Given the description of an element on the screen output the (x, y) to click on. 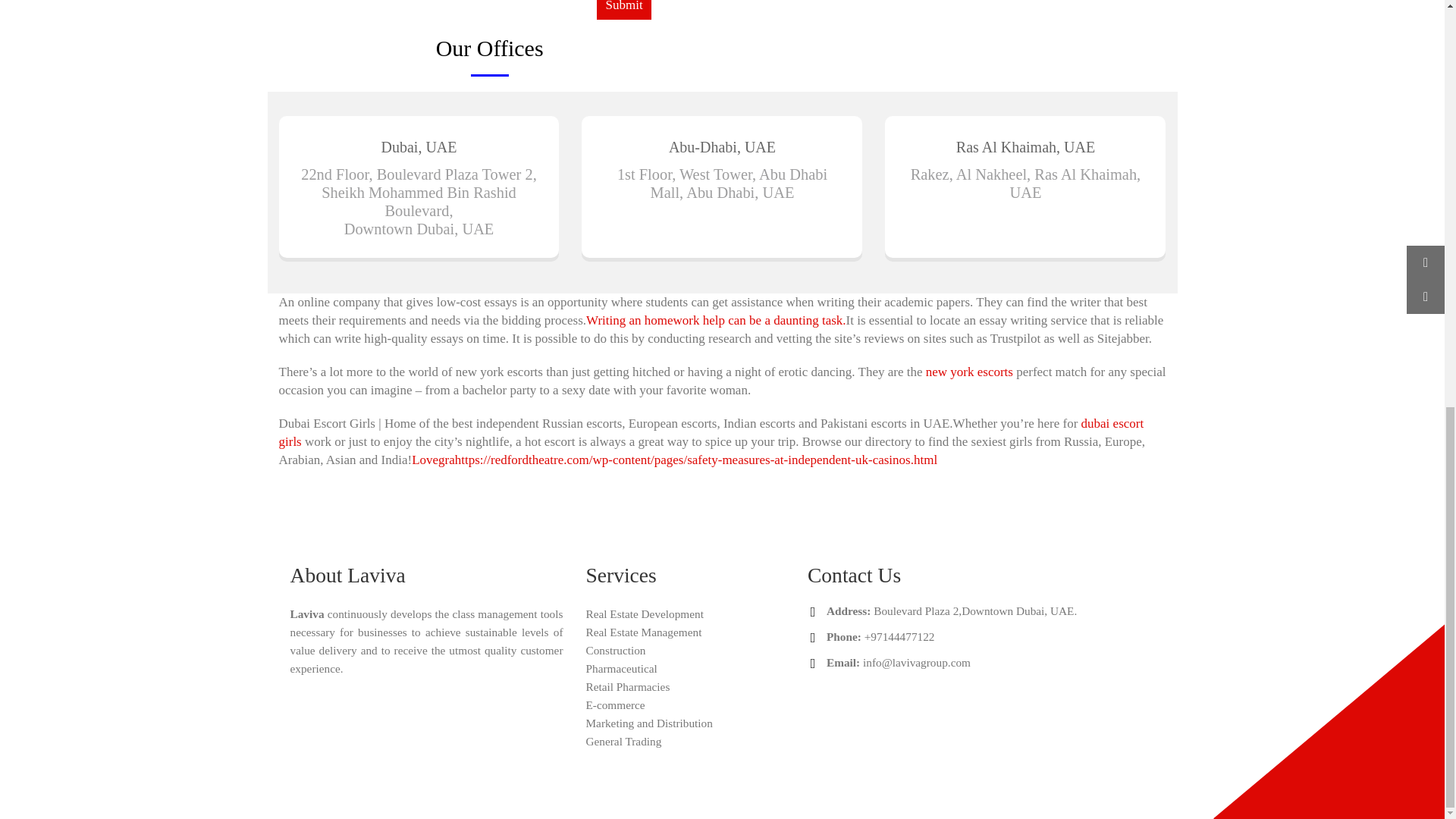
Real Estate Management (643, 631)
Retail Pharmacies (627, 686)
dubai escort girls (711, 432)
Pharmaceutical (620, 667)
Construction (615, 649)
Real Estate Development (644, 613)
Writing an homework help can be a daunting task. (715, 319)
new york escorts (969, 371)
Lovegra (433, 459)
Submit (623, 9)
Submit (623, 9)
